Given the description of an element on the screen output the (x, y) to click on. 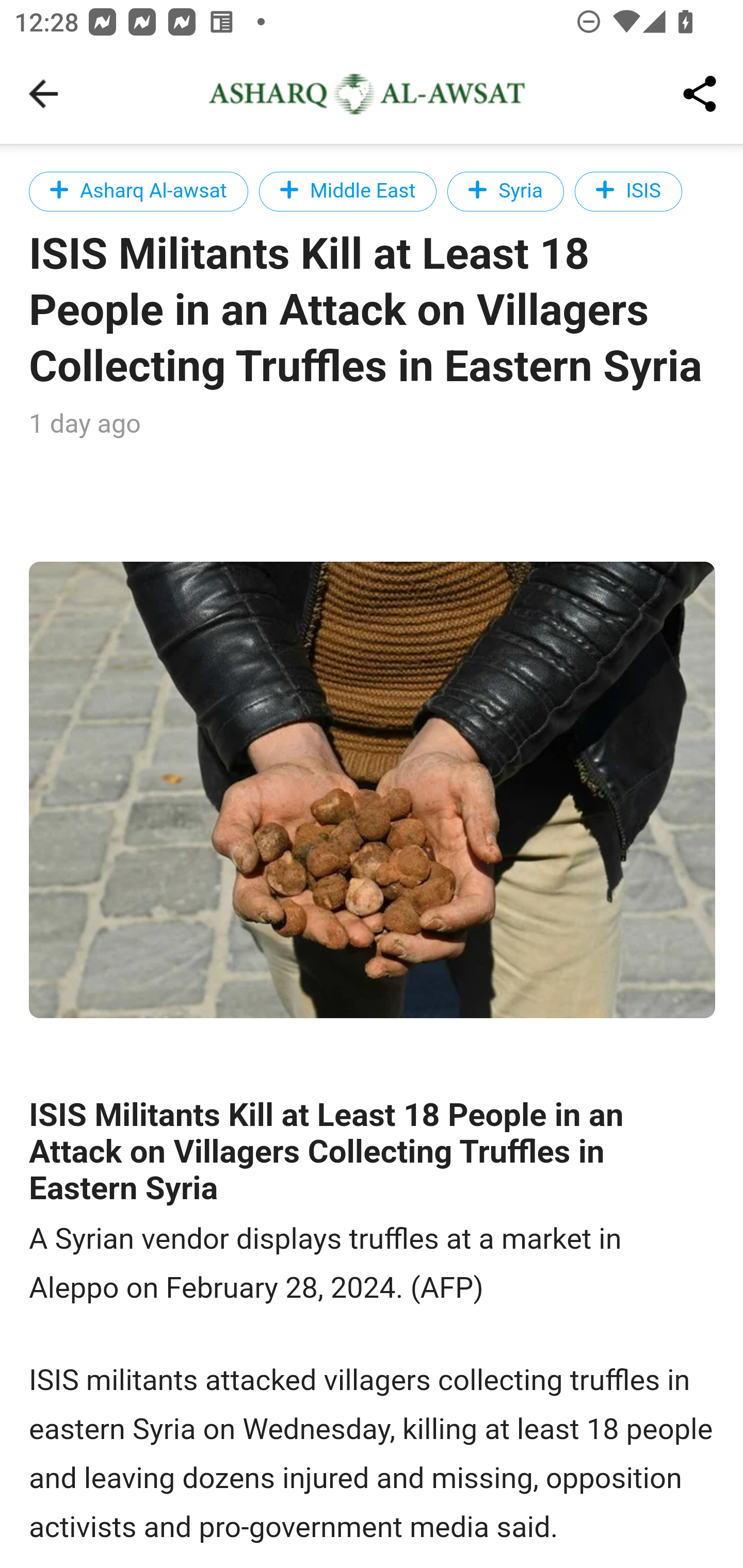
Asharq Al-awsat (138, 191)
Middle East (347, 191)
Syria (504, 191)
ISIS (628, 191)
